Given the description of an element on the screen output the (x, y) to click on. 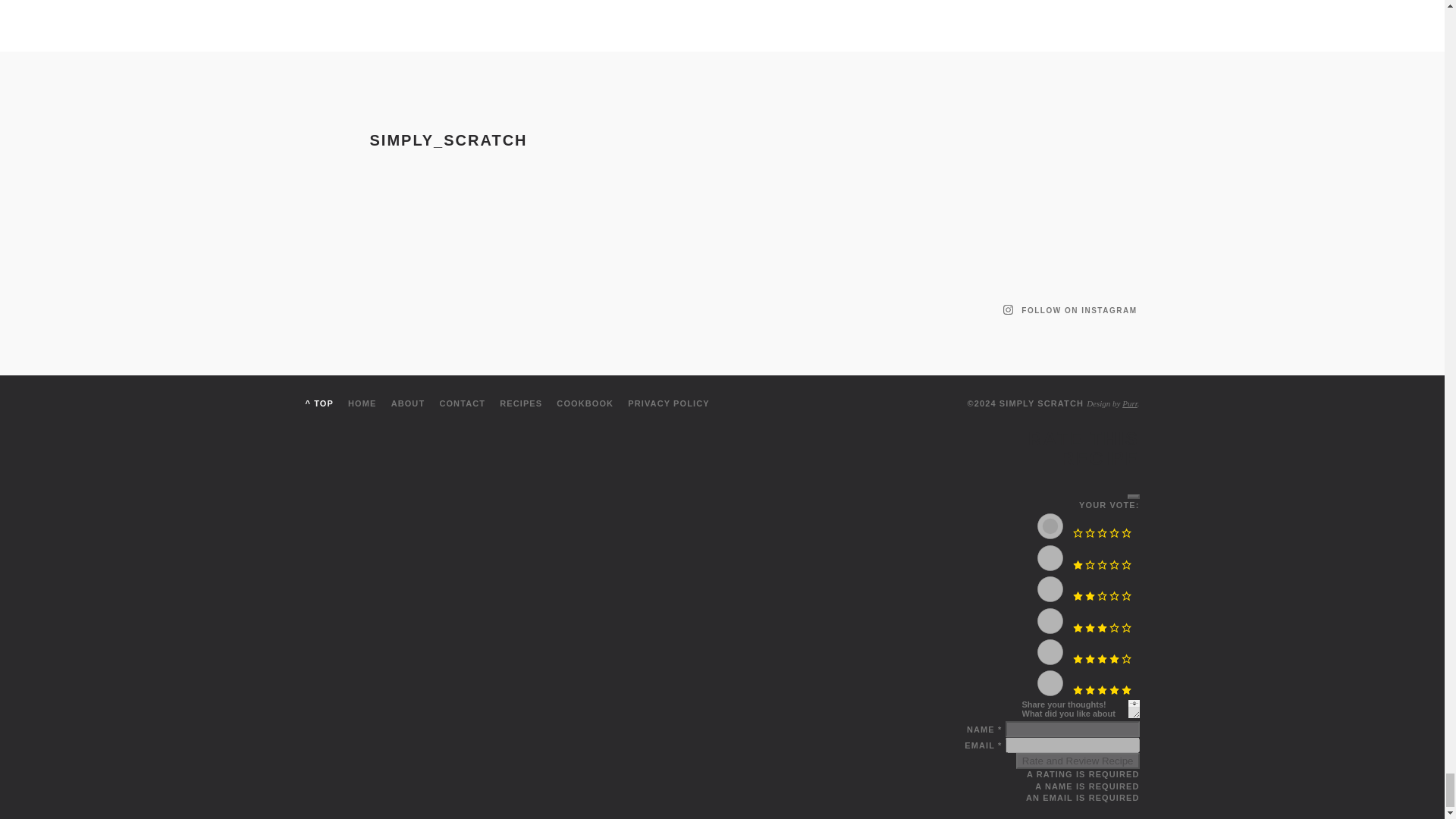
3 (1049, 620)
0 (1049, 525)
5 (1049, 683)
1 (1049, 557)
4 (1049, 652)
2 (1049, 588)
